Given the description of an element on the screen output the (x, y) to click on. 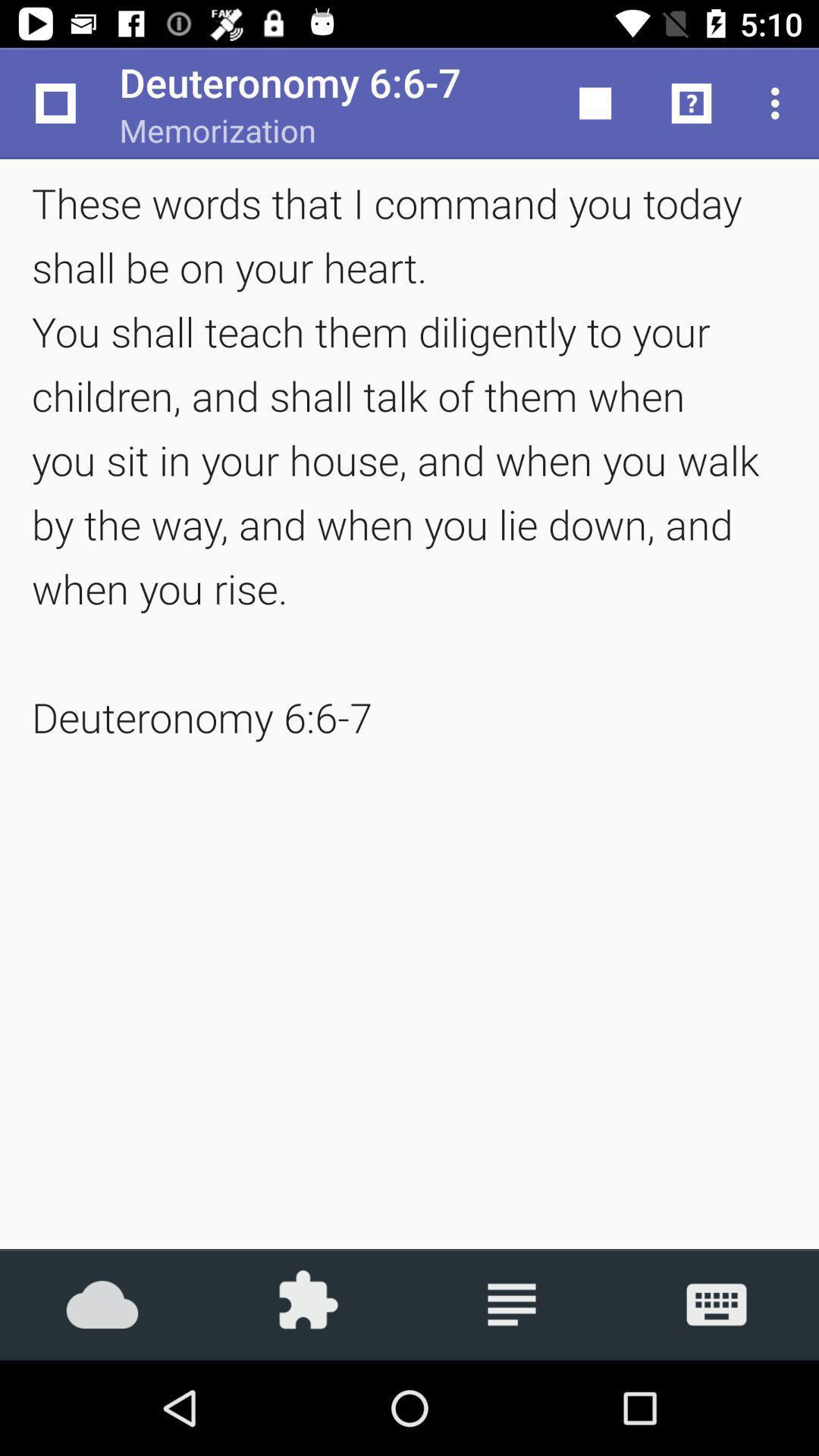
click on square box (595, 103)
select the icon which is beside the cloud icon (306, 1304)
click on the fourth image from left at the bottom of web page (716, 1304)
